Given the description of an element on the screen output the (x, y) to click on. 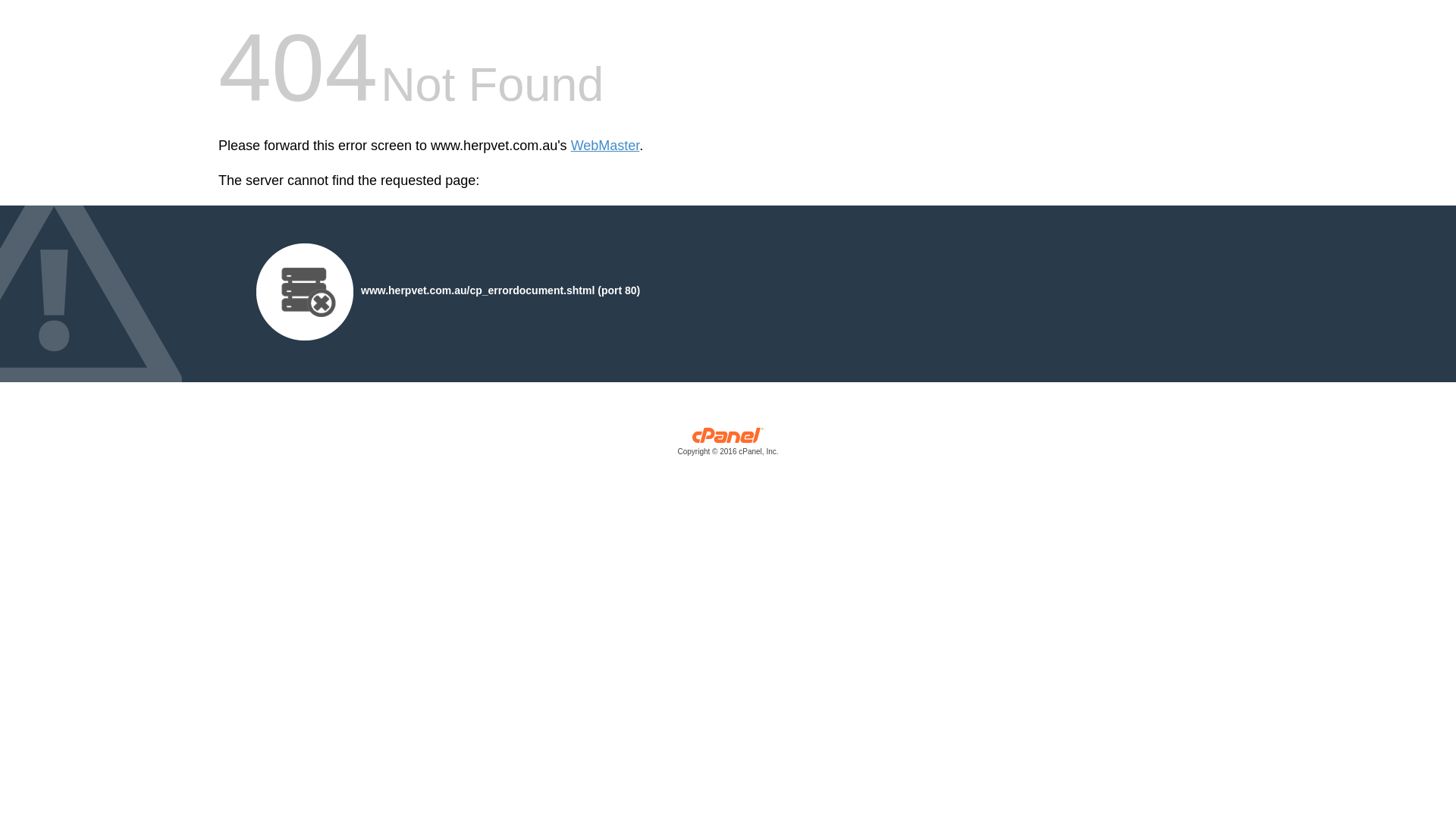
WebMaster Element type: text (605, 145)
